Given the description of an element on the screen output the (x, y) to click on. 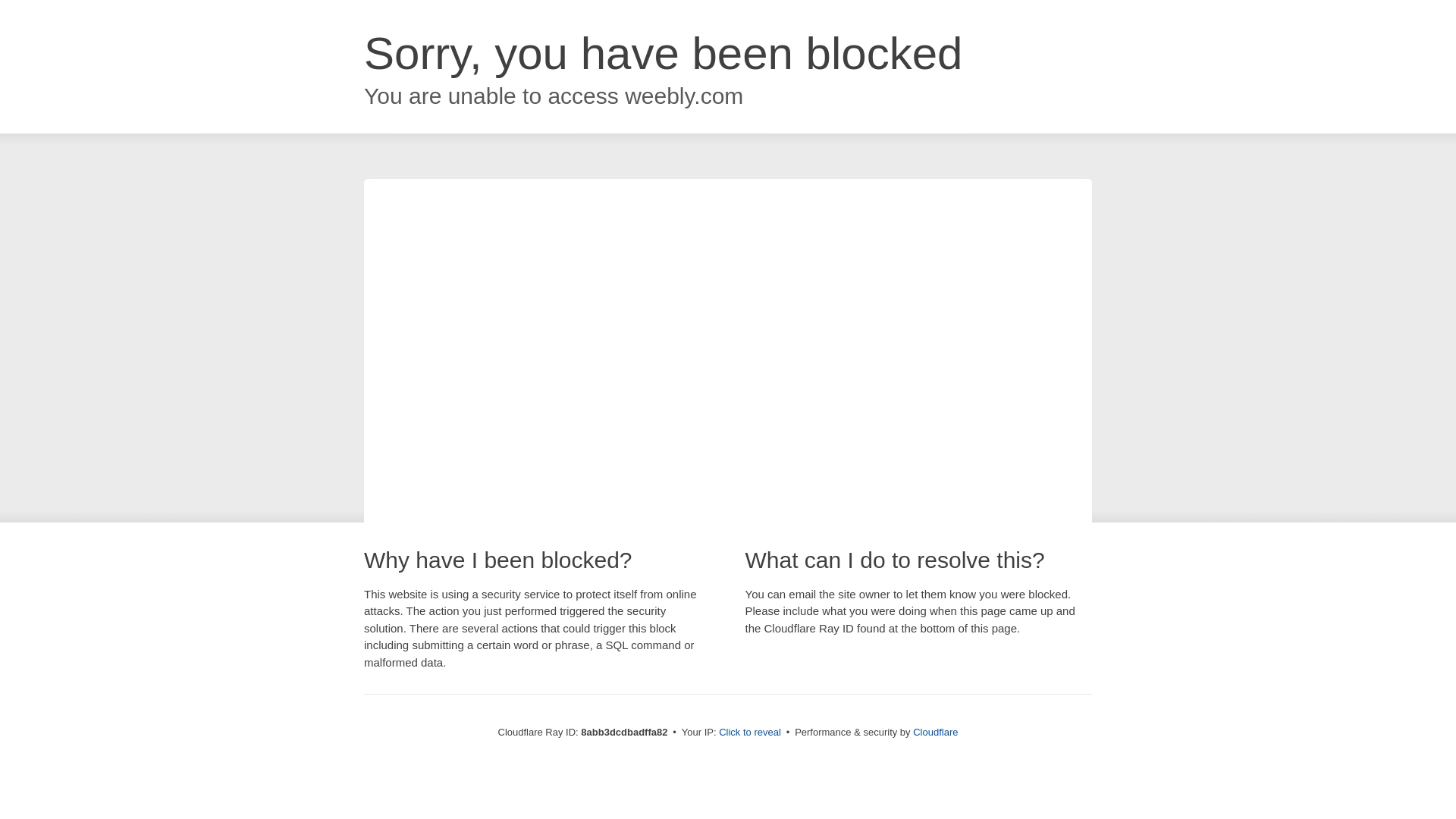
Click to reveal (749, 732)
Cloudflare (935, 731)
